Given the description of an element on the screen output the (x, y) to click on. 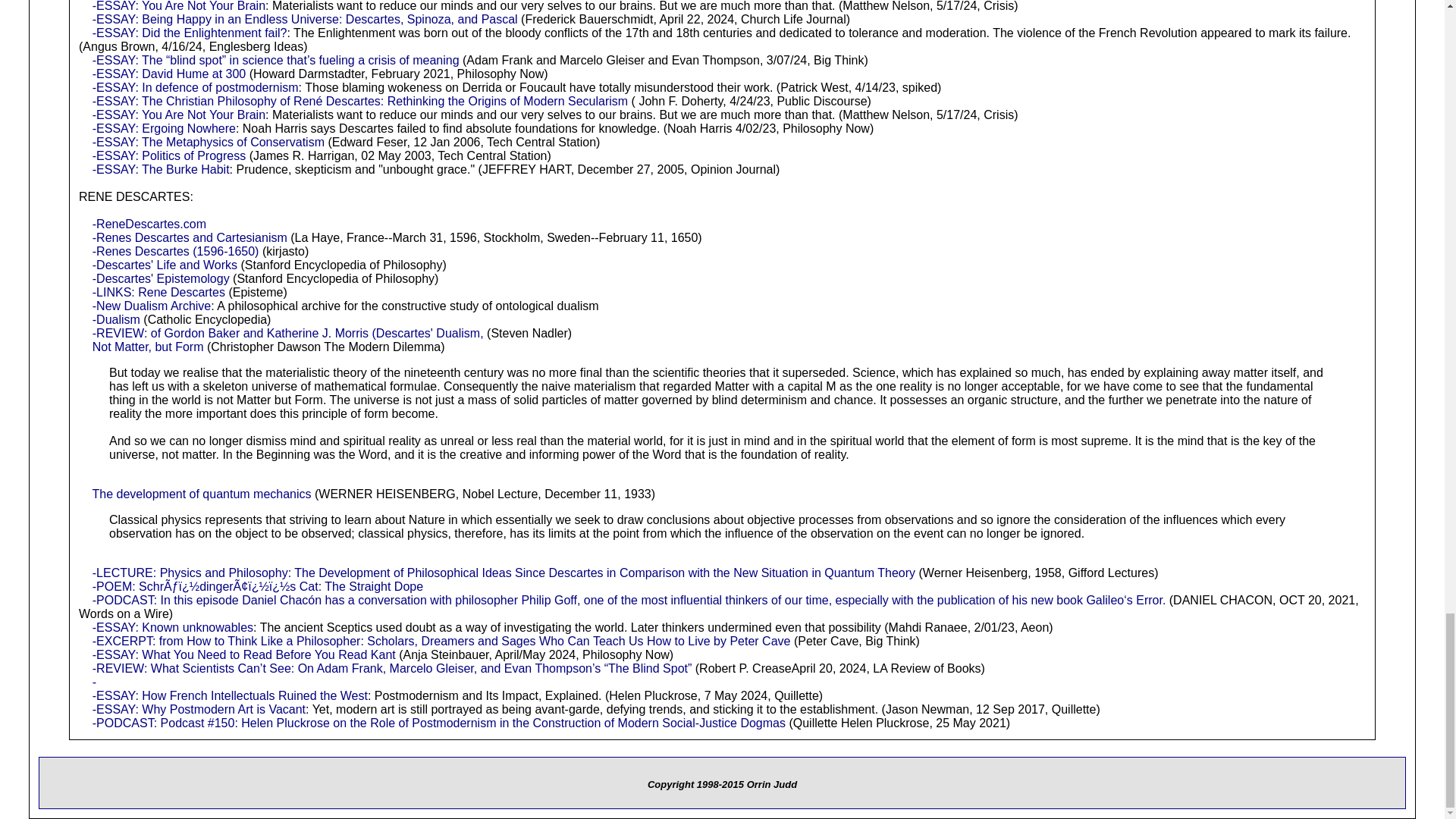
-ESSAY: In defence of postmodernism (195, 87)
-ESSAY: The Metaphysics of Conservatism (208, 141)
-ESSAY: David Hume at 300 (169, 73)
-ESSAY: Did the Enlightenment fail? (189, 32)
-ESSAY: You Are Not Your Brain (178, 114)
-ESSAY: You Are Not Your Brain (178, 6)
-ESSAY: Ergoing Nowhere (164, 128)
-ESSAY: Politics of Progress (169, 155)
